Given the description of an element on the screen output the (x, y) to click on. 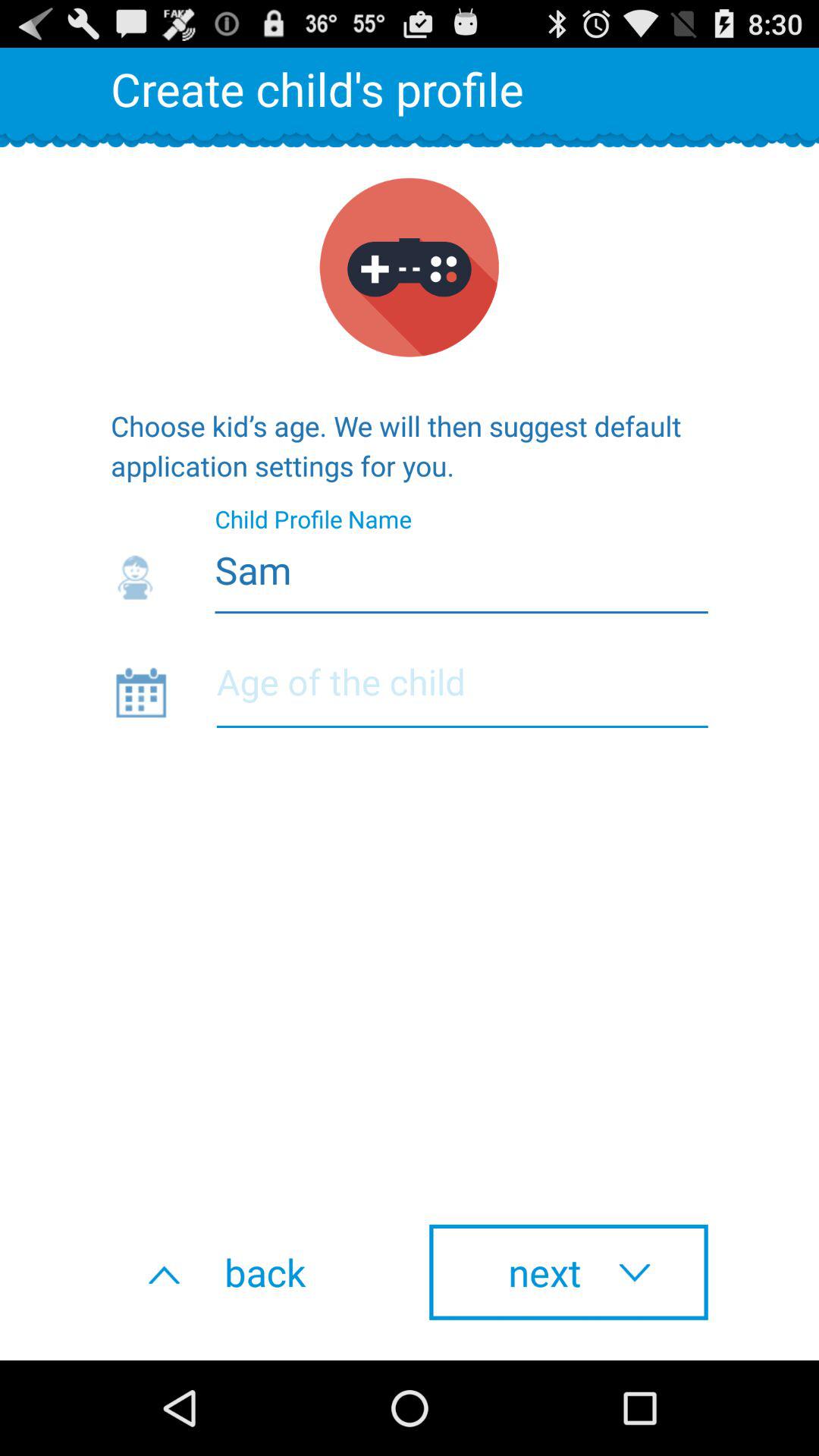
press the item next to back button (568, 1272)
